Given the description of an element on the screen output the (x, y) to click on. 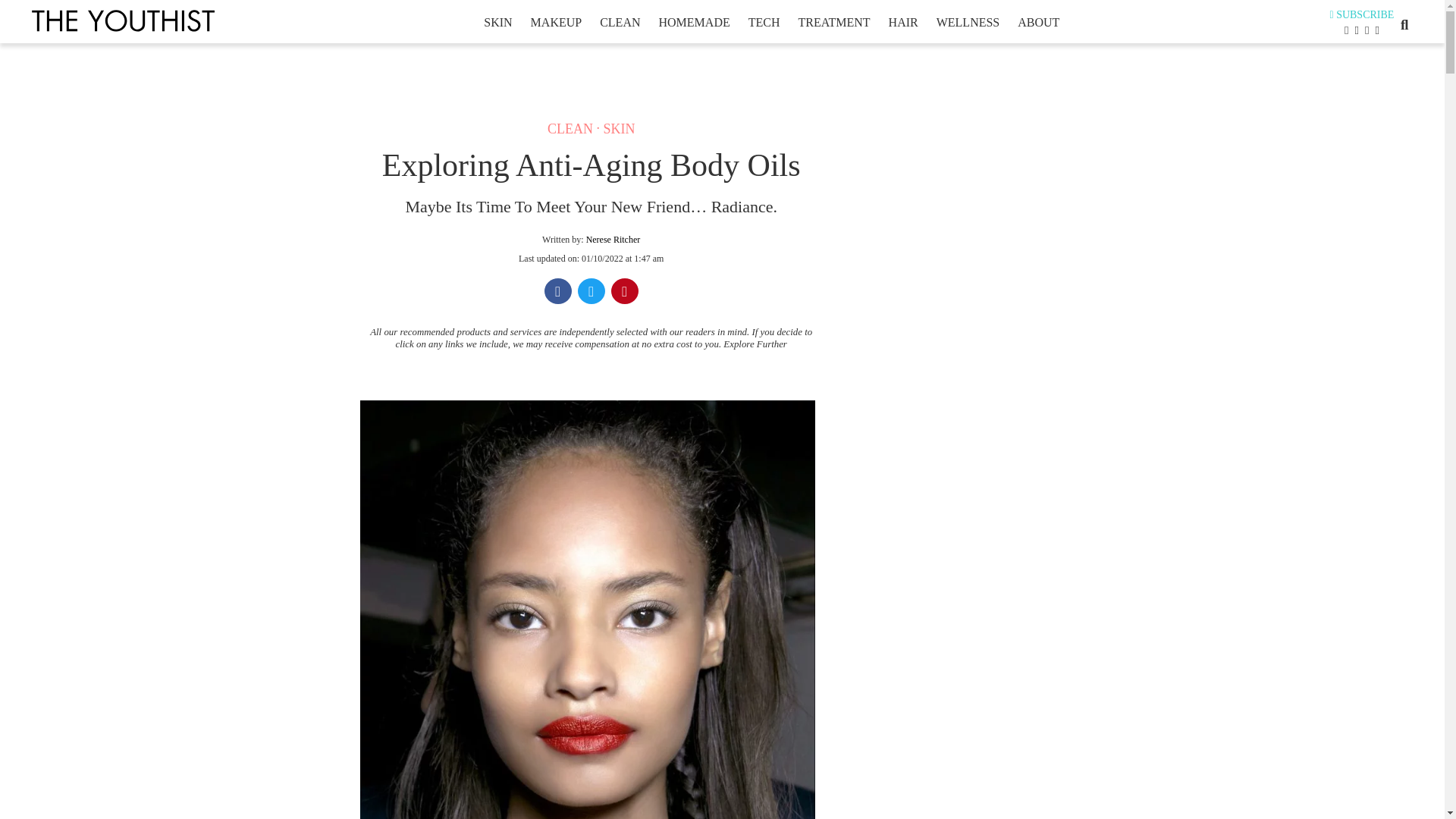
Posts by Nerese Ritcher (613, 239)
SUBSCRIBE (1362, 14)
Subscribe to our list! (1362, 14)
HAIR (903, 22)
Facebook (558, 292)
CLEAN (569, 128)
Twitter (591, 292)
MAKEUP (555, 22)
TREATMENT (833, 22)
SKIN (618, 128)
HOMEMADE (694, 22)
ABOUT (1037, 22)
SKIN (497, 22)
CLEAN (619, 22)
The Youthist -  (123, 21)
